Given the description of an element on the screen output the (x, y) to click on. 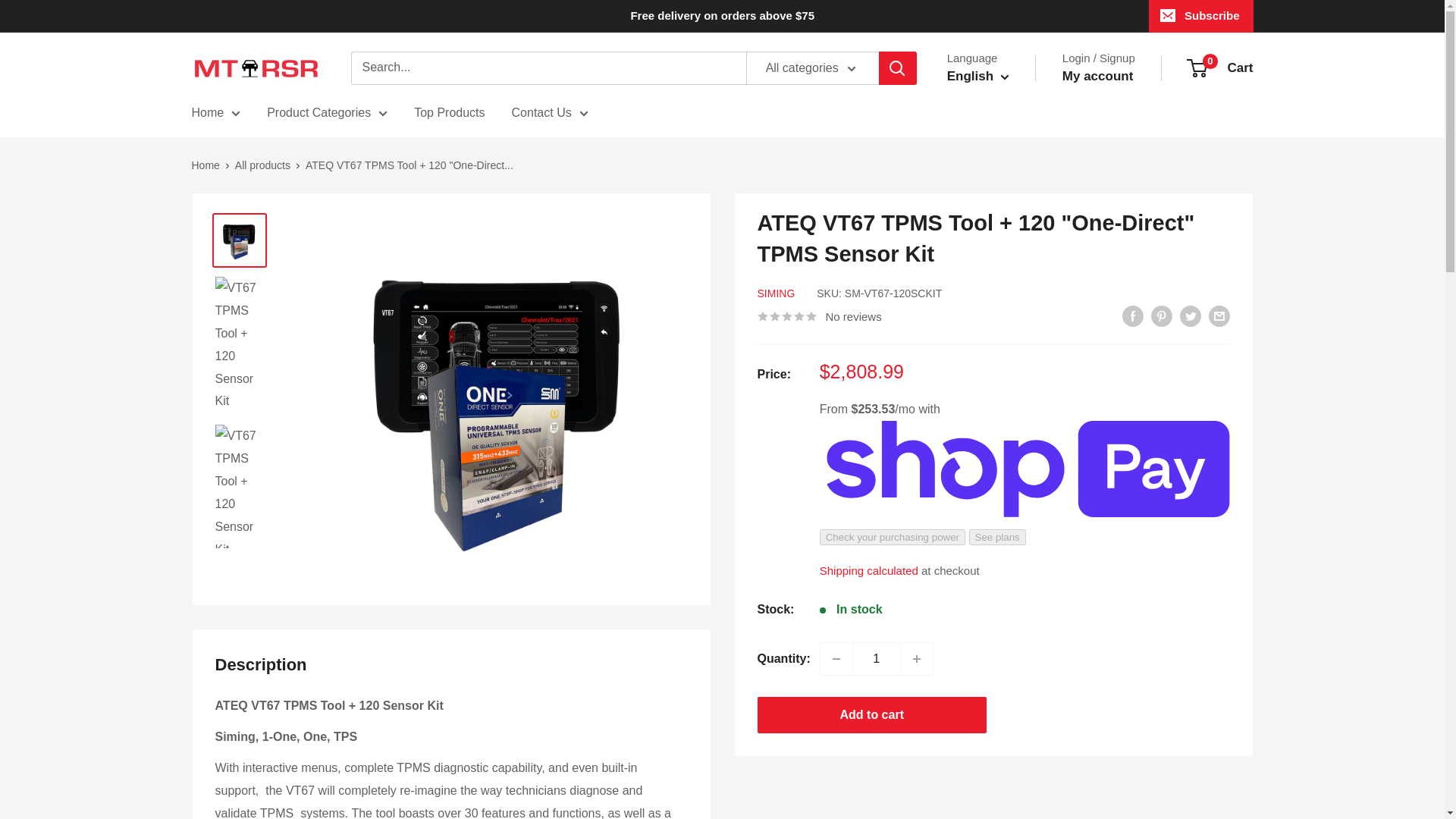
Increase quantity by 1 (917, 658)
Subscribe (1200, 15)
Decrease quantity by 1 (836, 658)
1 (876, 658)
